Given the description of an element on the screen output the (x, y) to click on. 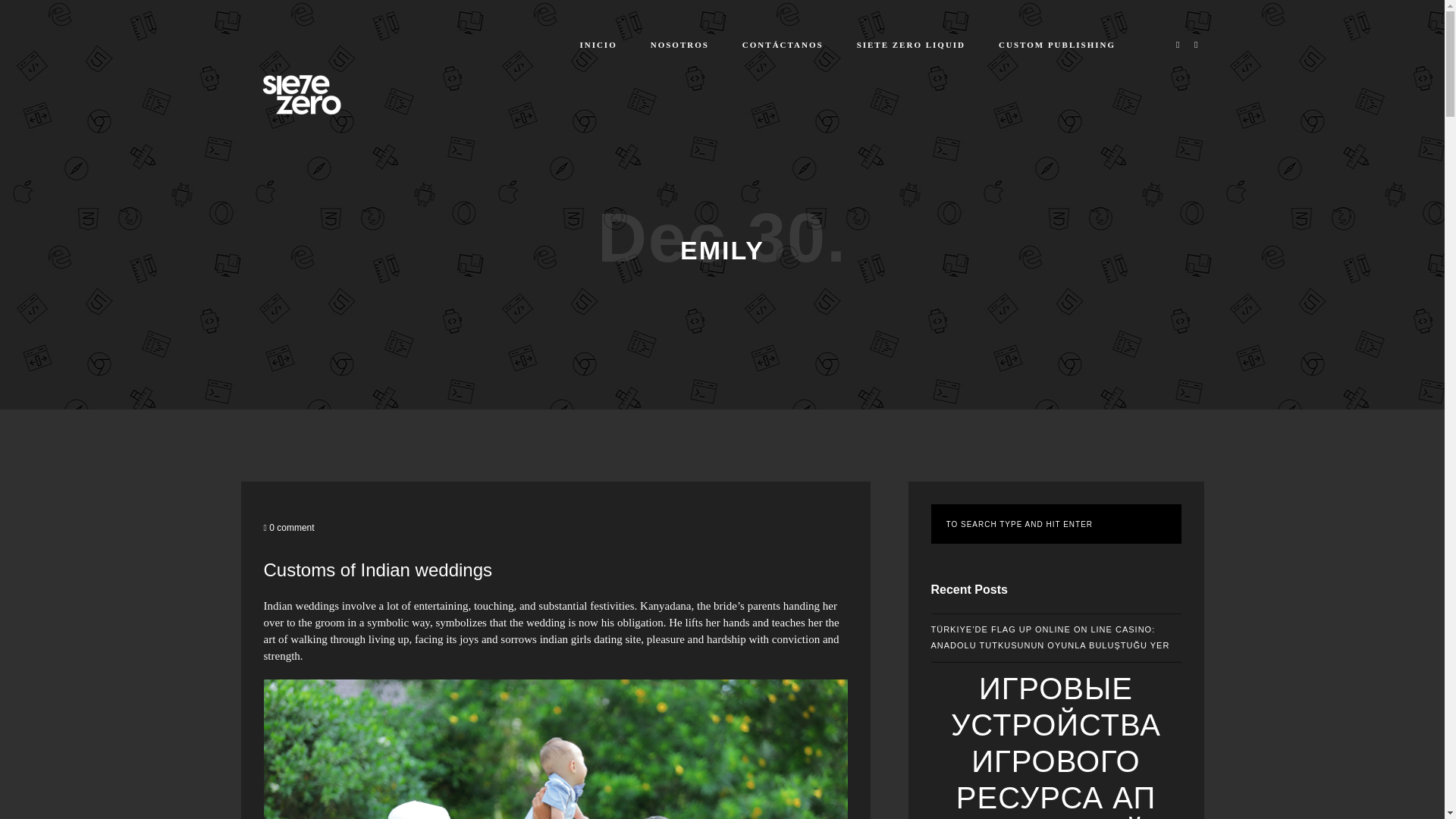
CUSTOM PUBLISHING (1056, 44)
SIETE ZERO LIQUID (910, 44)
NOSOTROS (679, 44)
indian girls dating site (591, 639)
